Given the description of an element on the screen output the (x, y) to click on. 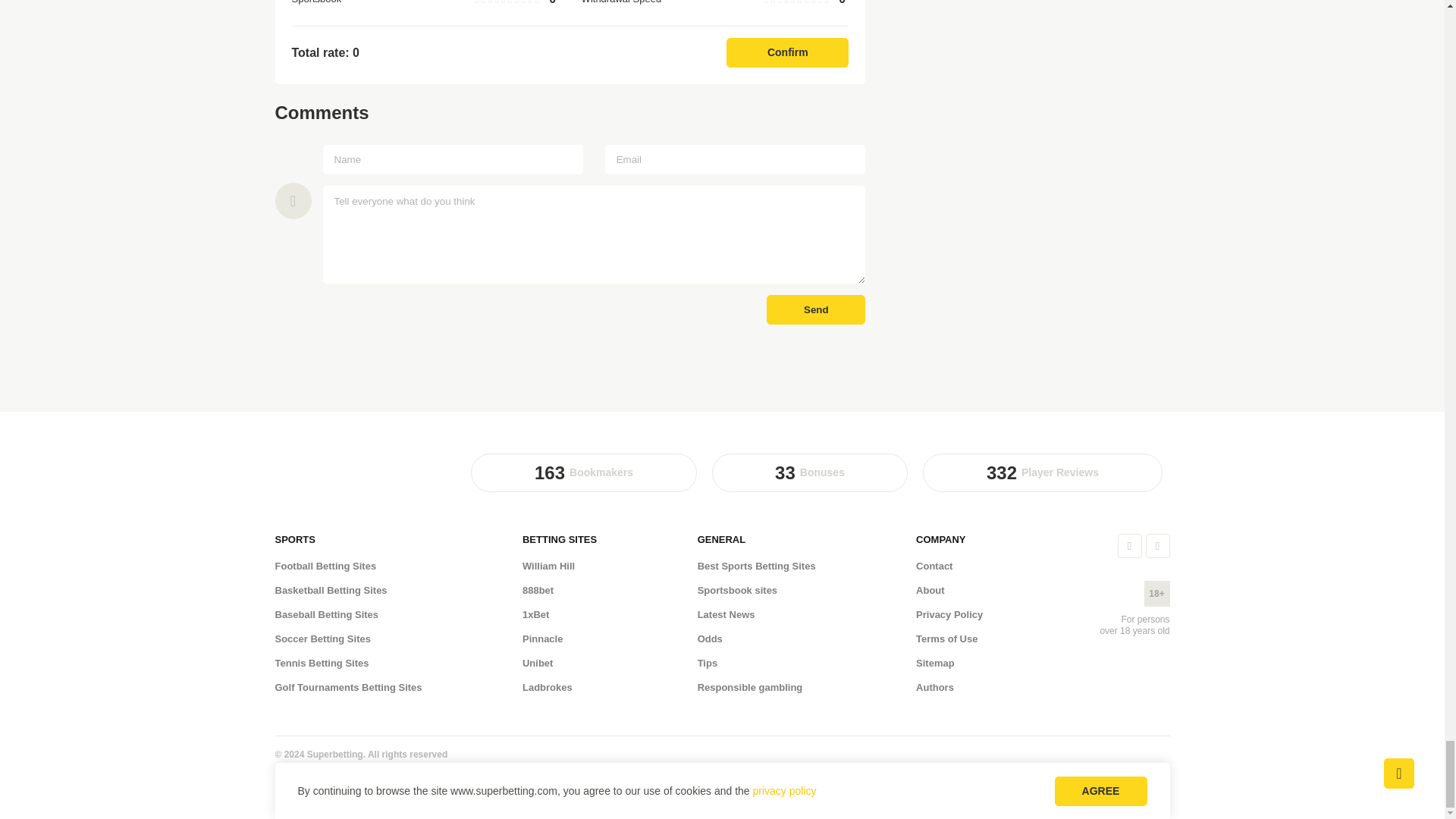
Sportbet (324, 496)
Send (815, 309)
